Given the description of an element on the screen output the (x, y) to click on. 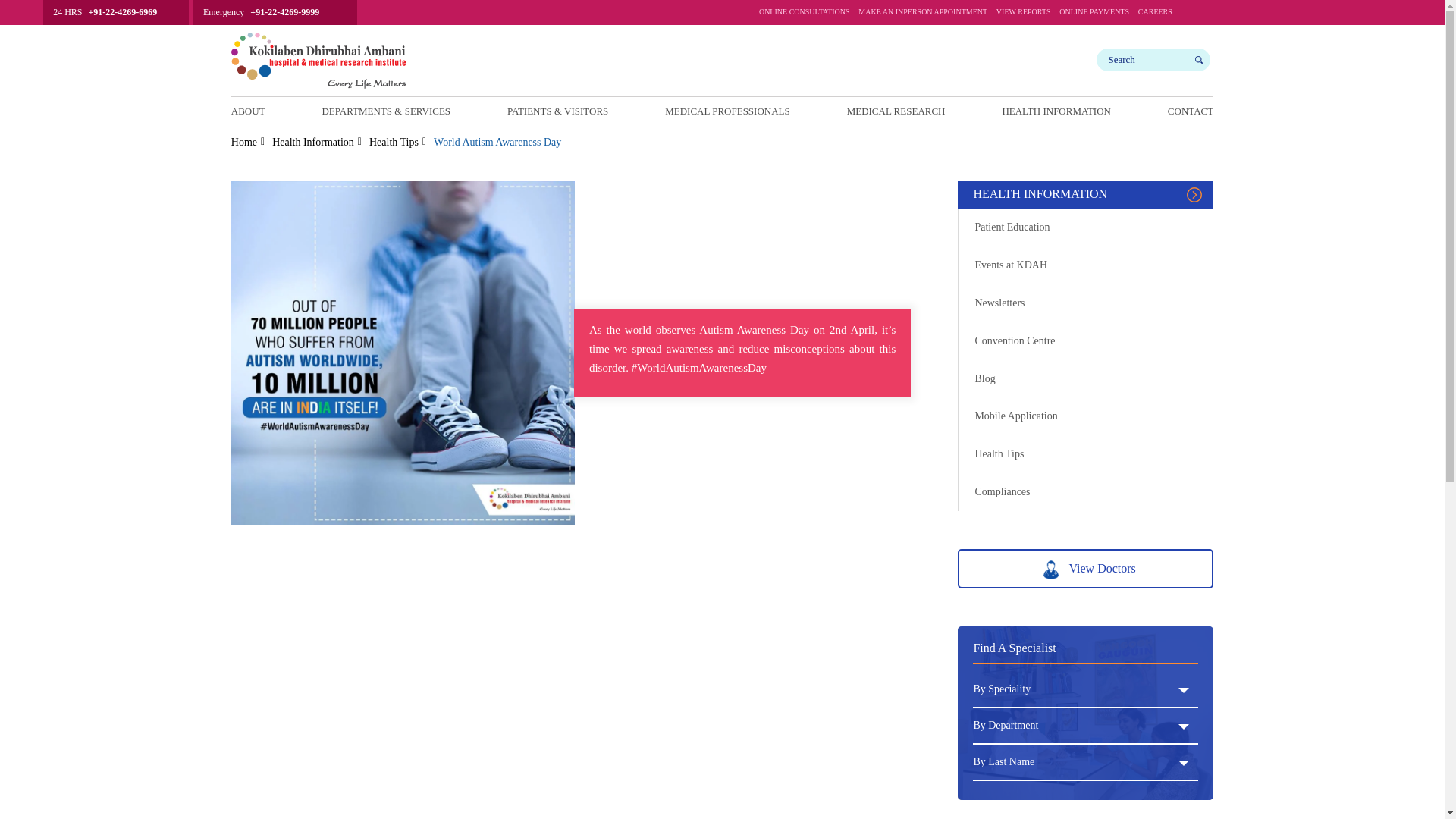
ONLINE CONSULTATIONS (804, 14)
MAKE AN INPERSON APPOINTMENT (923, 14)
CAREERS (1155, 14)
ABOUT (247, 110)
ONLINE PAYMENTS (1094, 14)
VIEW REPORTS (1023, 14)
